Given the description of an element on the screen output the (x, y) to click on. 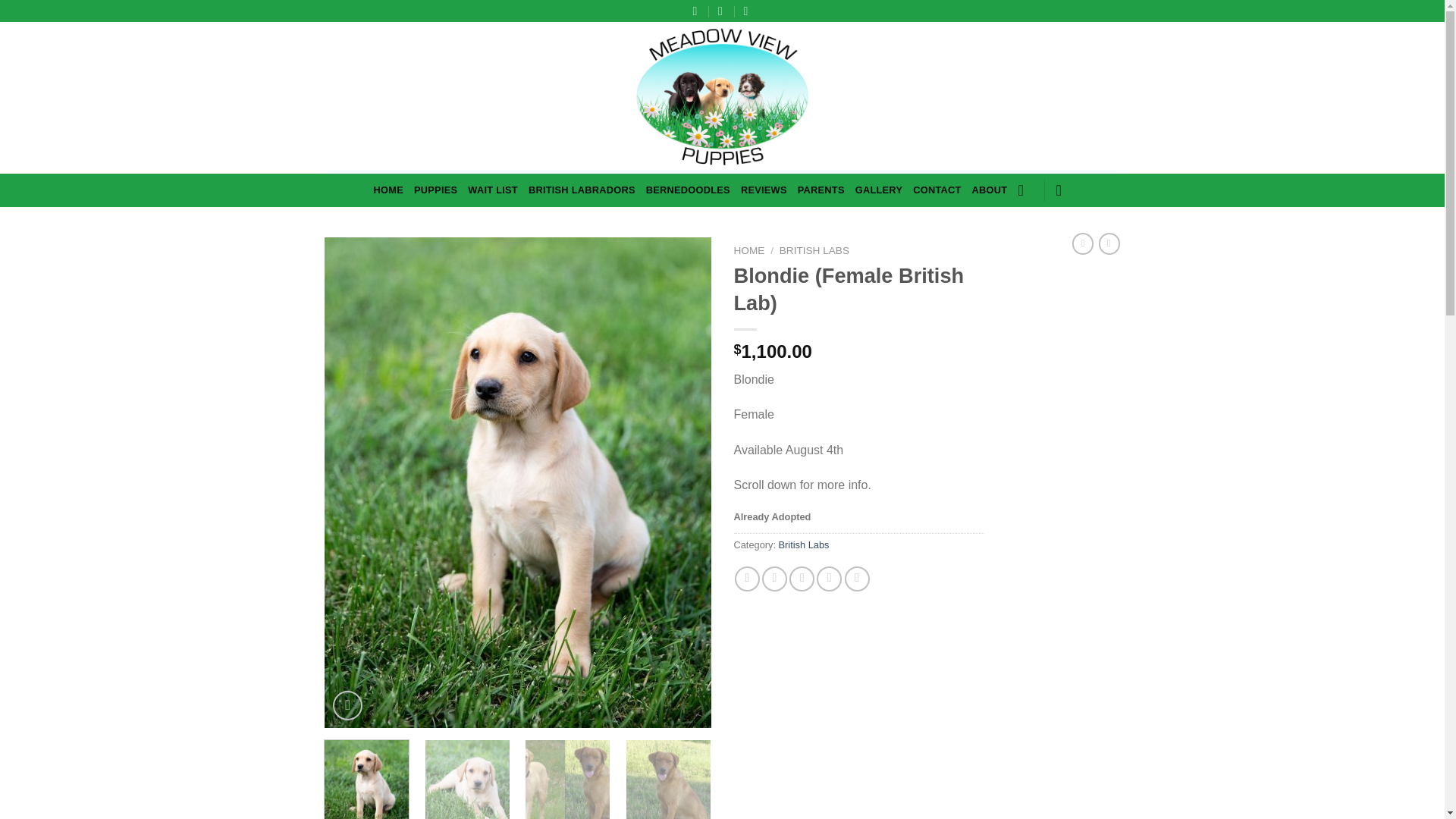
HOME (749, 250)
BRITISH LABRADORS (581, 189)
PUPPIES (435, 189)
BERNEDOODLES (688, 189)
BRITISH LABS (813, 250)
PARENTS (820, 189)
Meadow View Puppies - Breeding high-quality dogs (721, 97)
Zoom (347, 705)
ABOUT (989, 189)
GALLERY (879, 189)
